Given the description of an element on the screen output the (x, y) to click on. 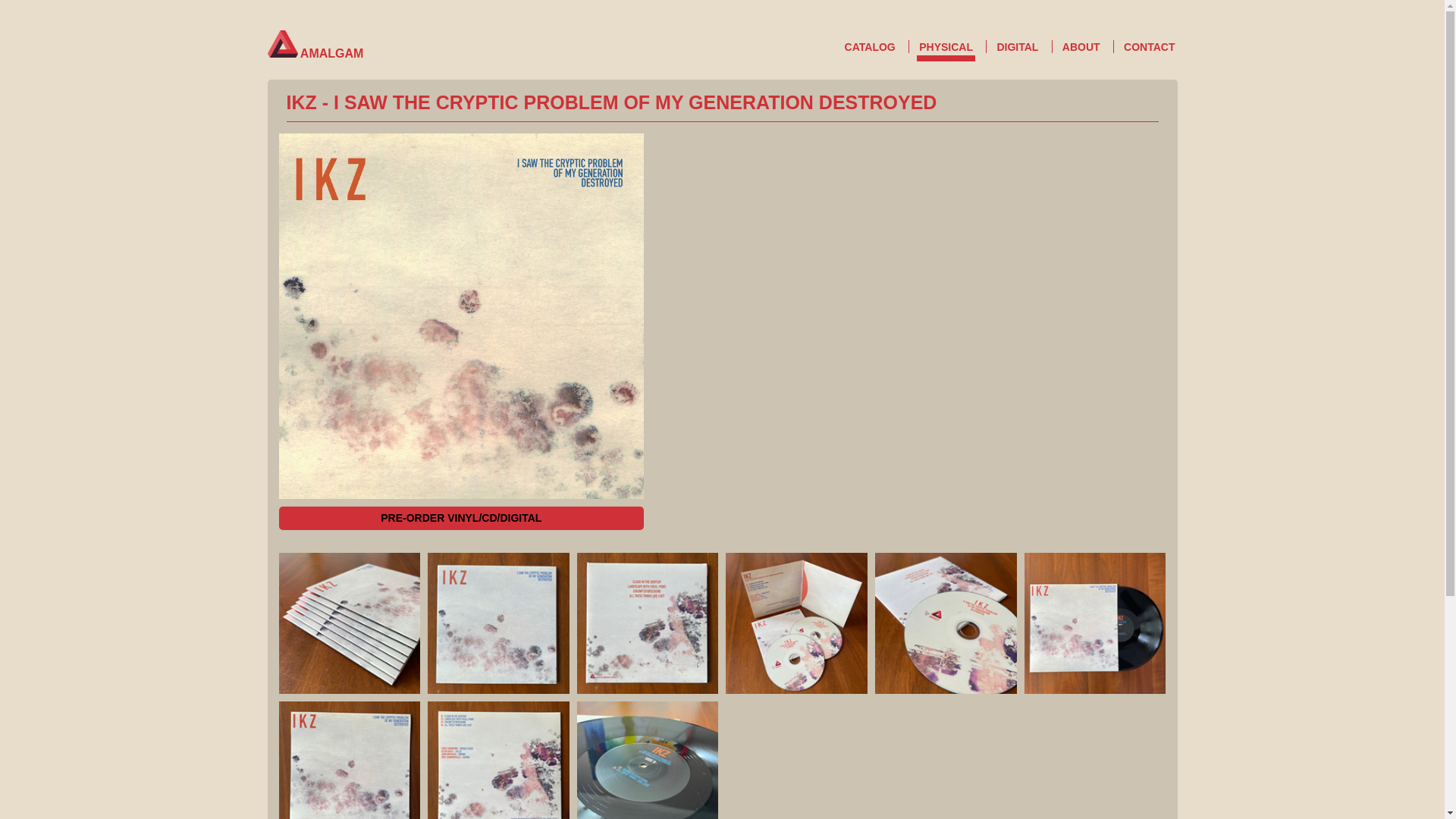
ABOUT (1080, 46)
DIGITAL (1017, 46)
Amalgam (281, 43)
CATALOG (870, 46)
CONTACT (1148, 46)
PHYSICAL (946, 49)
